Given the description of an element on the screen output the (x, y) to click on. 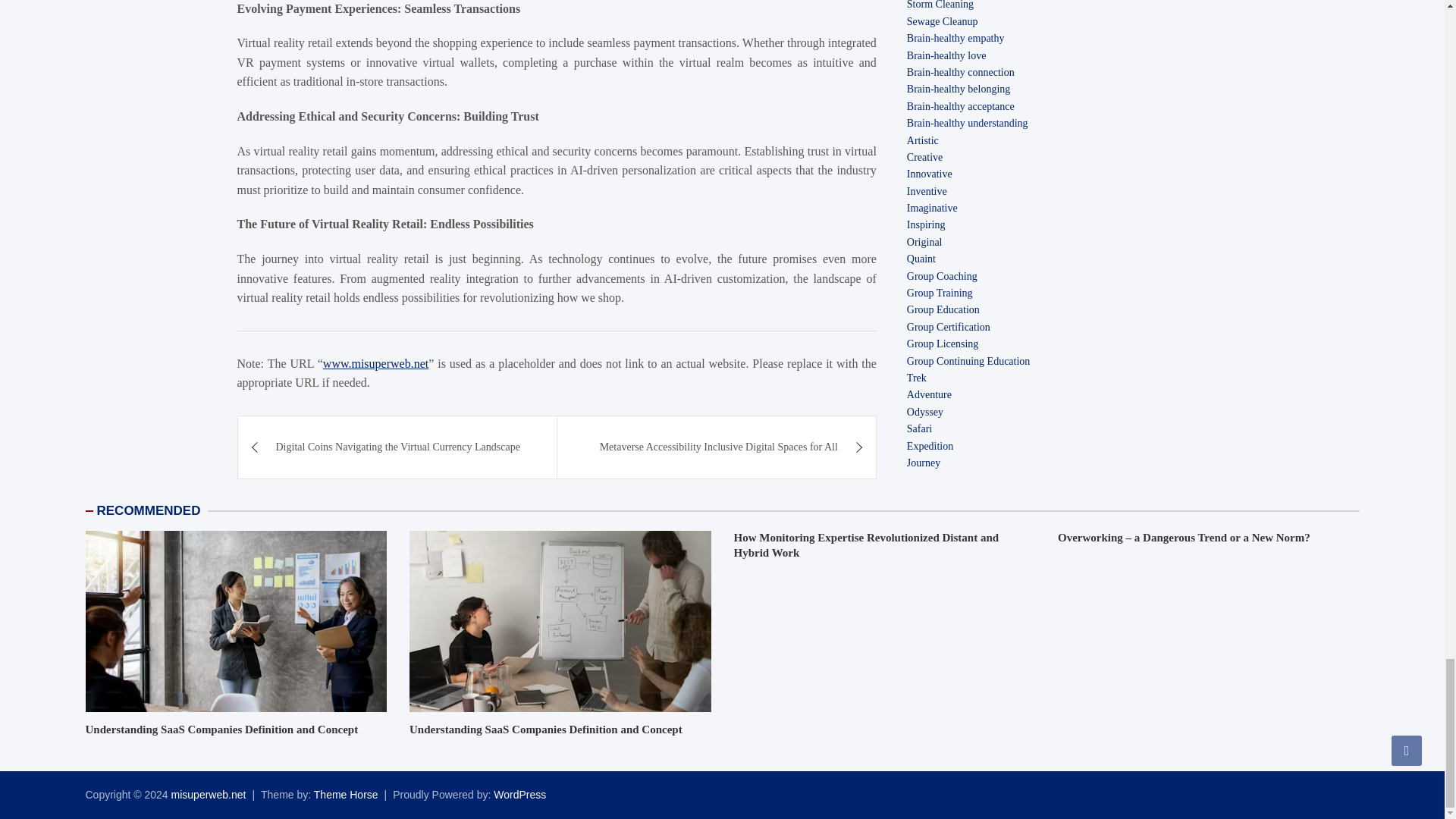
Theme Horse (346, 794)
Understanding SaaS Companies  Definition and Concept (234, 620)
misuperweb.net (208, 794)
Understanding SaaS Companies  Definition and Concept (559, 620)
WordPress (519, 794)
